Given the description of an element on the screen output the (x, y) to click on. 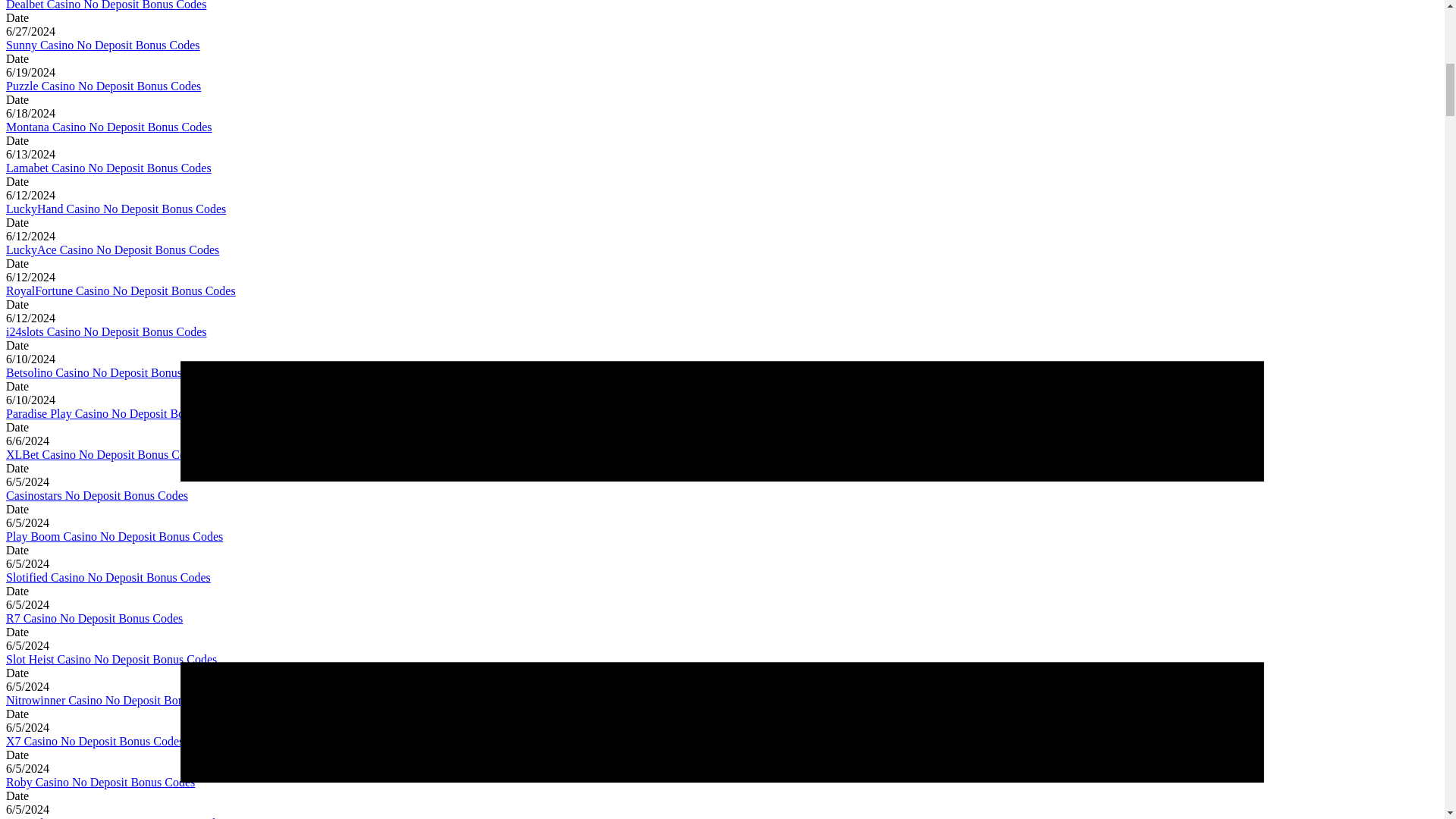
XLBet Casino No Deposit Bonus Codes (103, 454)
Montana Casino No Deposit Bonus Codes (108, 126)
LuckyHand Casino No Deposit Bonus Codes (115, 208)
Puzzle Casino No Deposit Bonus Codes (102, 85)
Paradise Play Casino No Deposit Bonus Codes (119, 413)
LuckyAce Casino No Deposit Bonus Codes (112, 249)
RoyalFortune Casino No Deposit Bonus Codes (120, 290)
Lamabet Casino No Deposit Bonus Codes (108, 167)
Casinostars No Deposit Bonus Codes (96, 495)
Betsolino Casino No Deposit Bonus Codes (110, 372)
Sunny Casino No Deposit Bonus Codes (102, 44)
i24slots Casino No Deposit Bonus Codes (105, 331)
Play Boom Casino No Deposit Bonus Codes (113, 535)
Dealbet Casino No Deposit Bonus Codes (105, 5)
Play Now (27, 731)
